Given the description of an element on the screen output the (x, y) to click on. 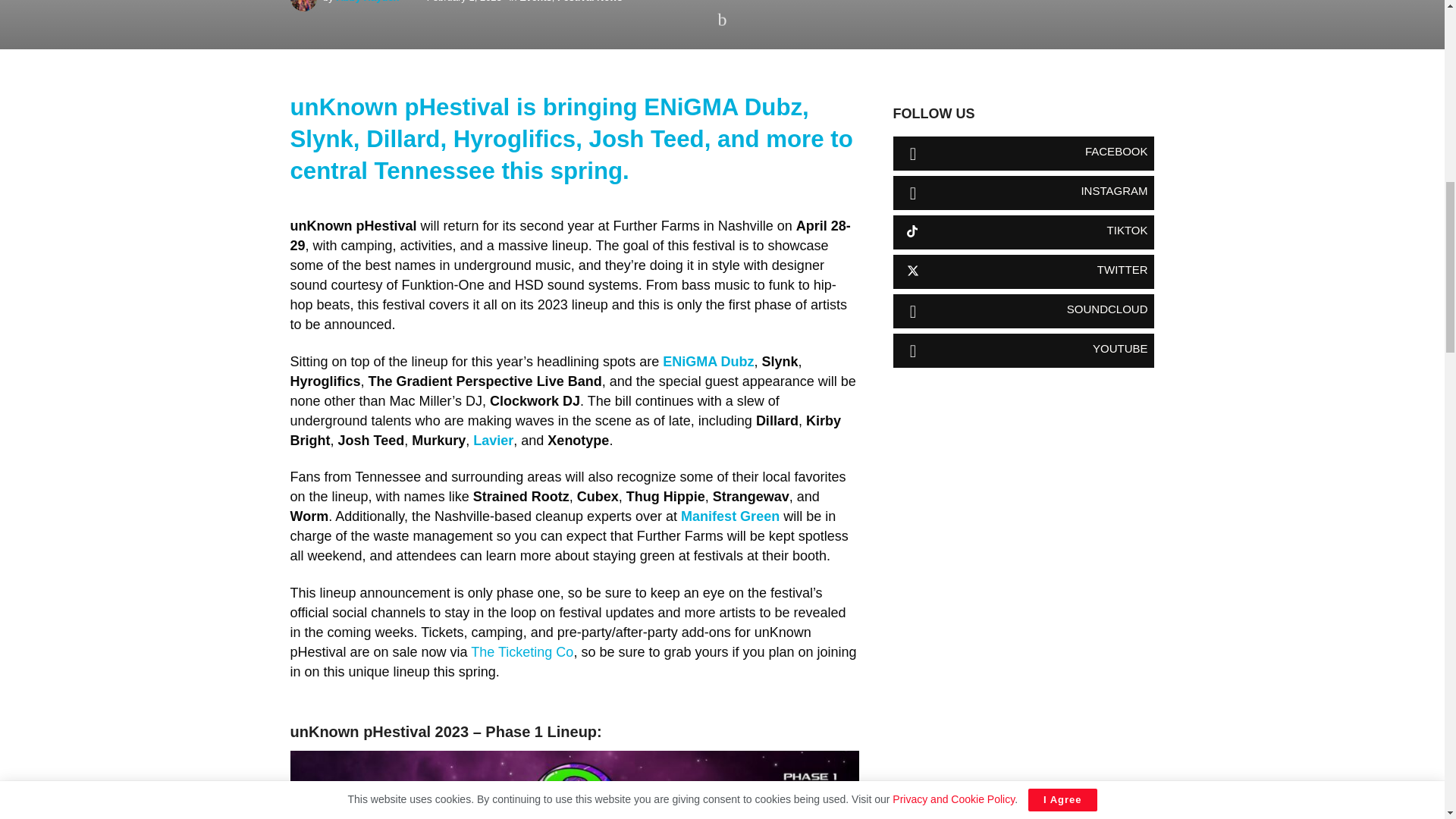
ENiGMA Dubz (706, 361)
Manifest Green (727, 516)
Events (535, 1)
The Ticketing Co (520, 652)
Festival News (590, 1)
Lavier (493, 440)
Abby Hayden (367, 1)
February 1, 2023 (464, 1)
